Given the description of an element on the screen output the (x, y) to click on. 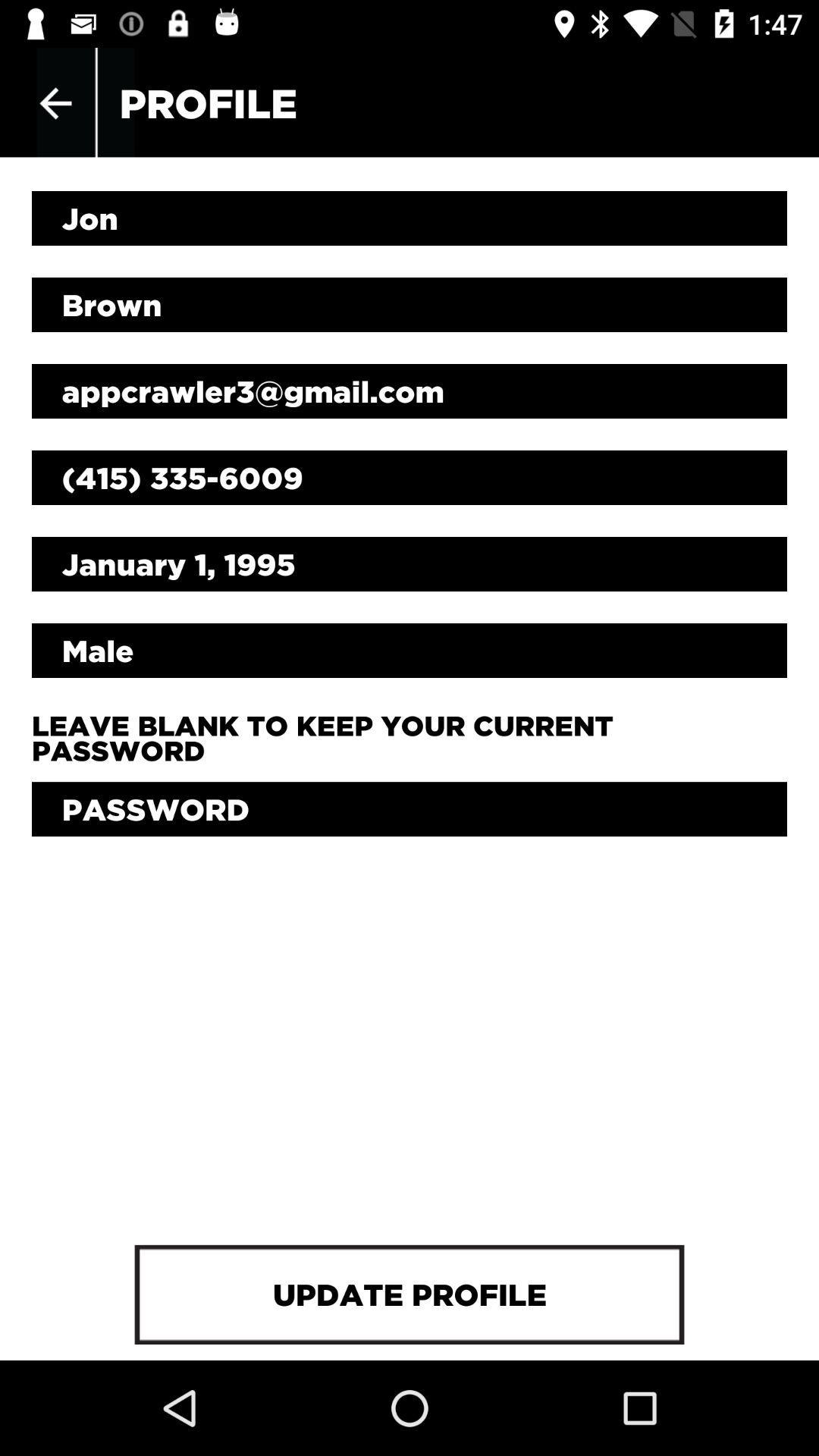
turn on app to the left of the profile (55, 103)
